Given the description of an element on the screen output the (x, y) to click on. 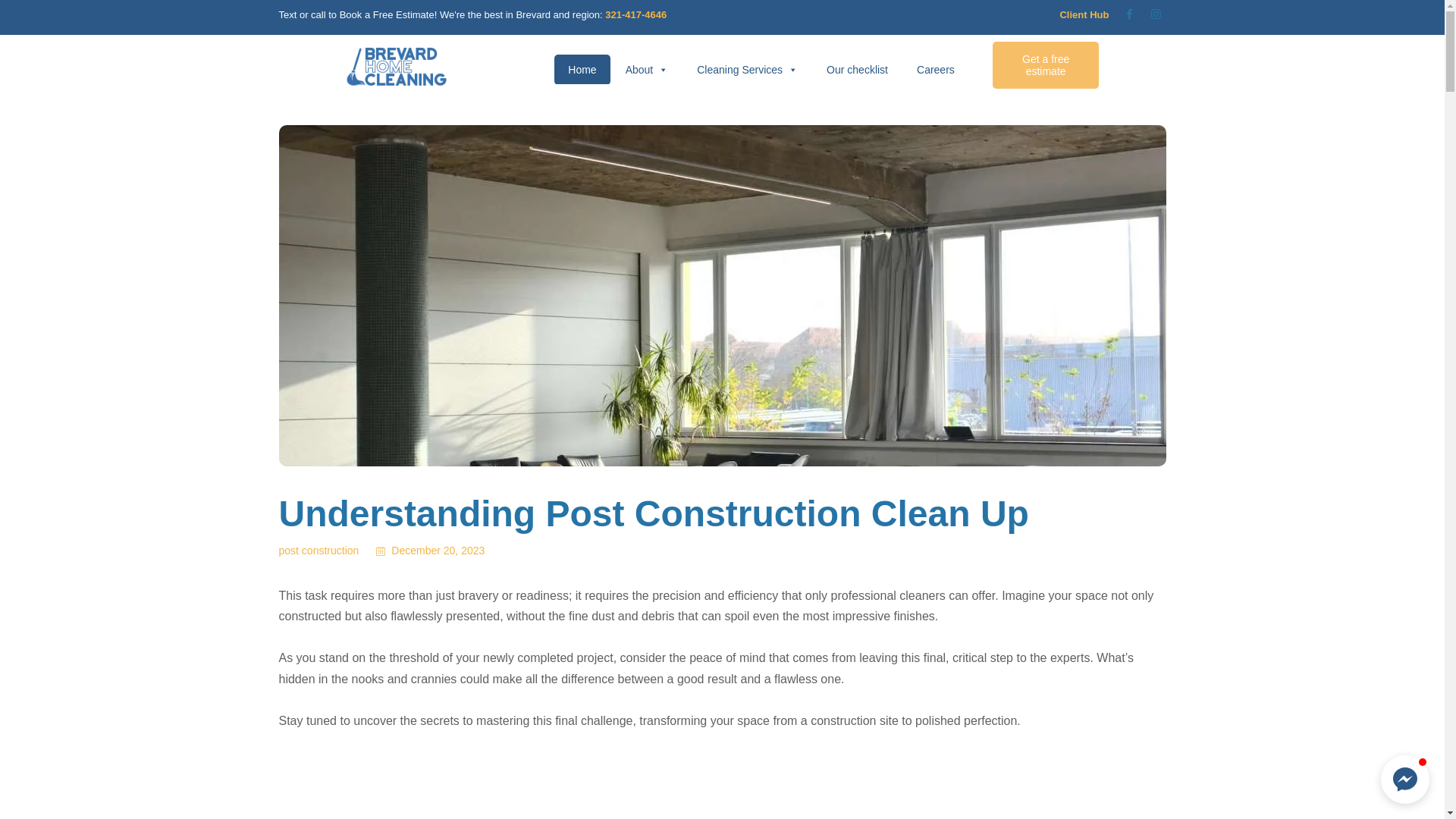
Cleaning Services (746, 69)
Client Hub (1083, 14)
Home (582, 69)
Get a free estimate (1045, 64)
About (646, 69)
321-417-4646 (635, 14)
Our checklist (856, 69)
YouTube video player (722, 785)
Make an appointment (1045, 64)
Careers (935, 69)
